Given the description of an element on the screen output the (x, y) to click on. 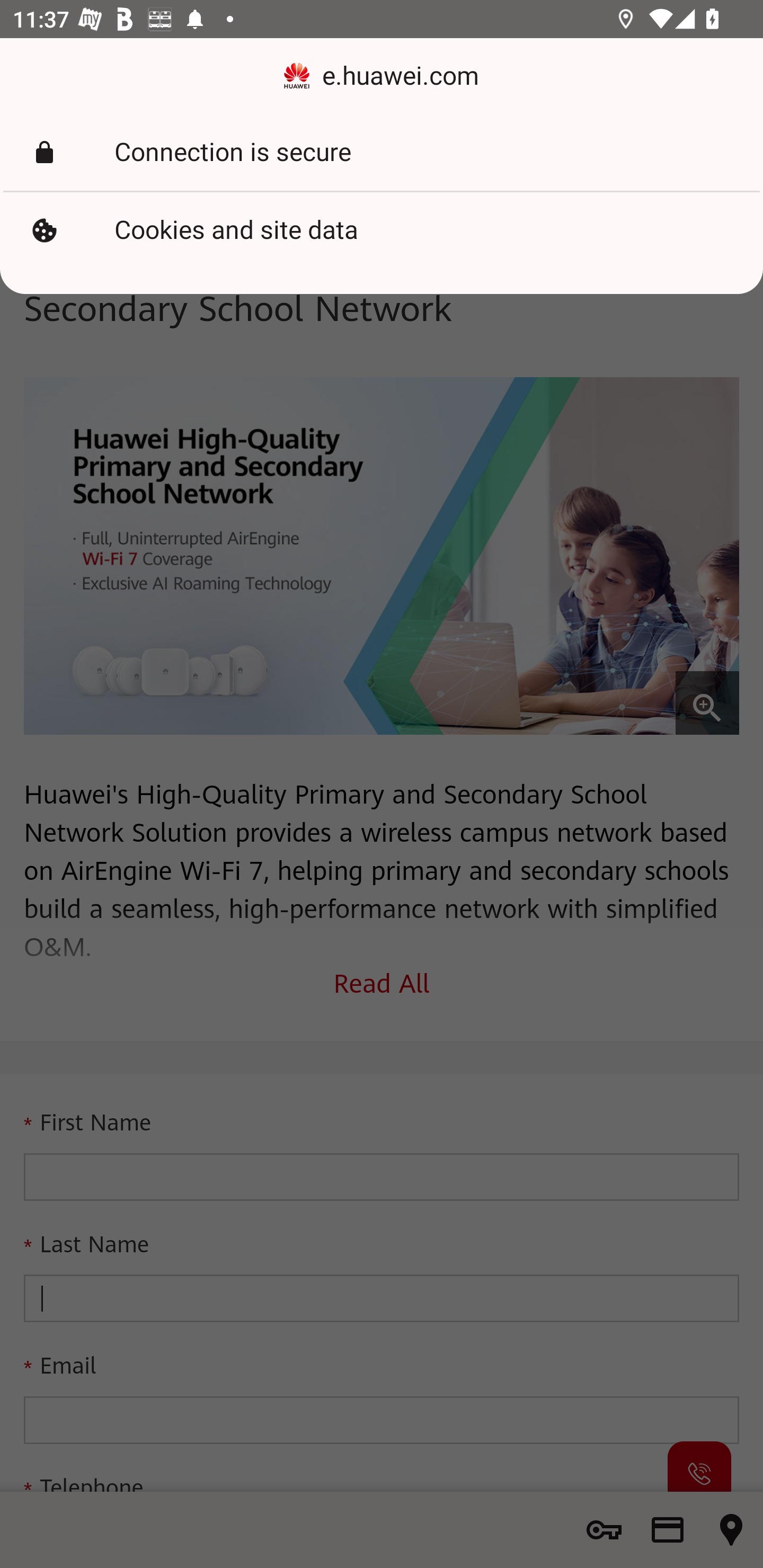
e.huawei.com (381, 75)
Connection is secure (381, 152)
Cookies and site data (381, 230)
